Given the description of an element on the screen output the (x, y) to click on. 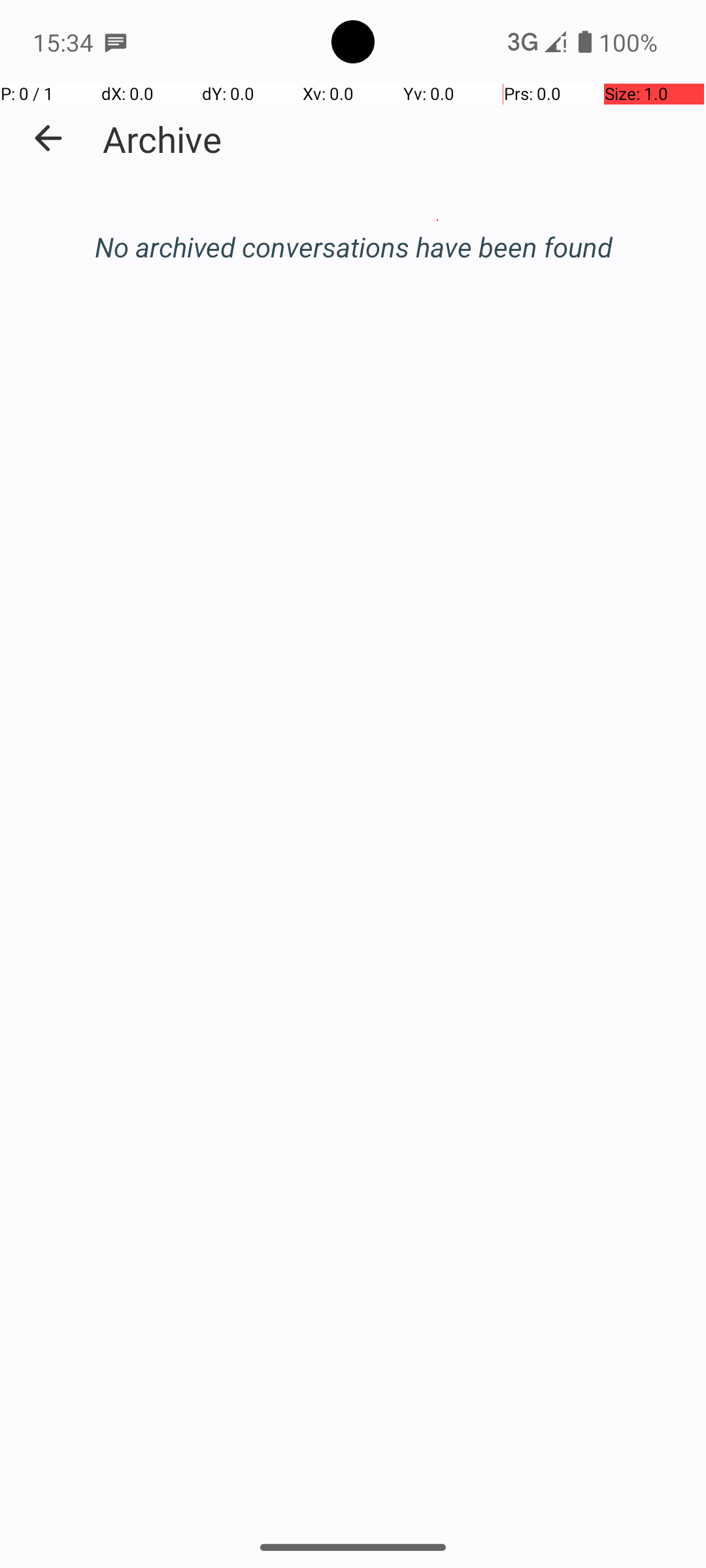
Archive Element type: android.widget.TextView (162, 138)
No archived conversations have been found Element type: android.widget.TextView (353, 246)
